Given the description of an element on the screen output the (x, y) to click on. 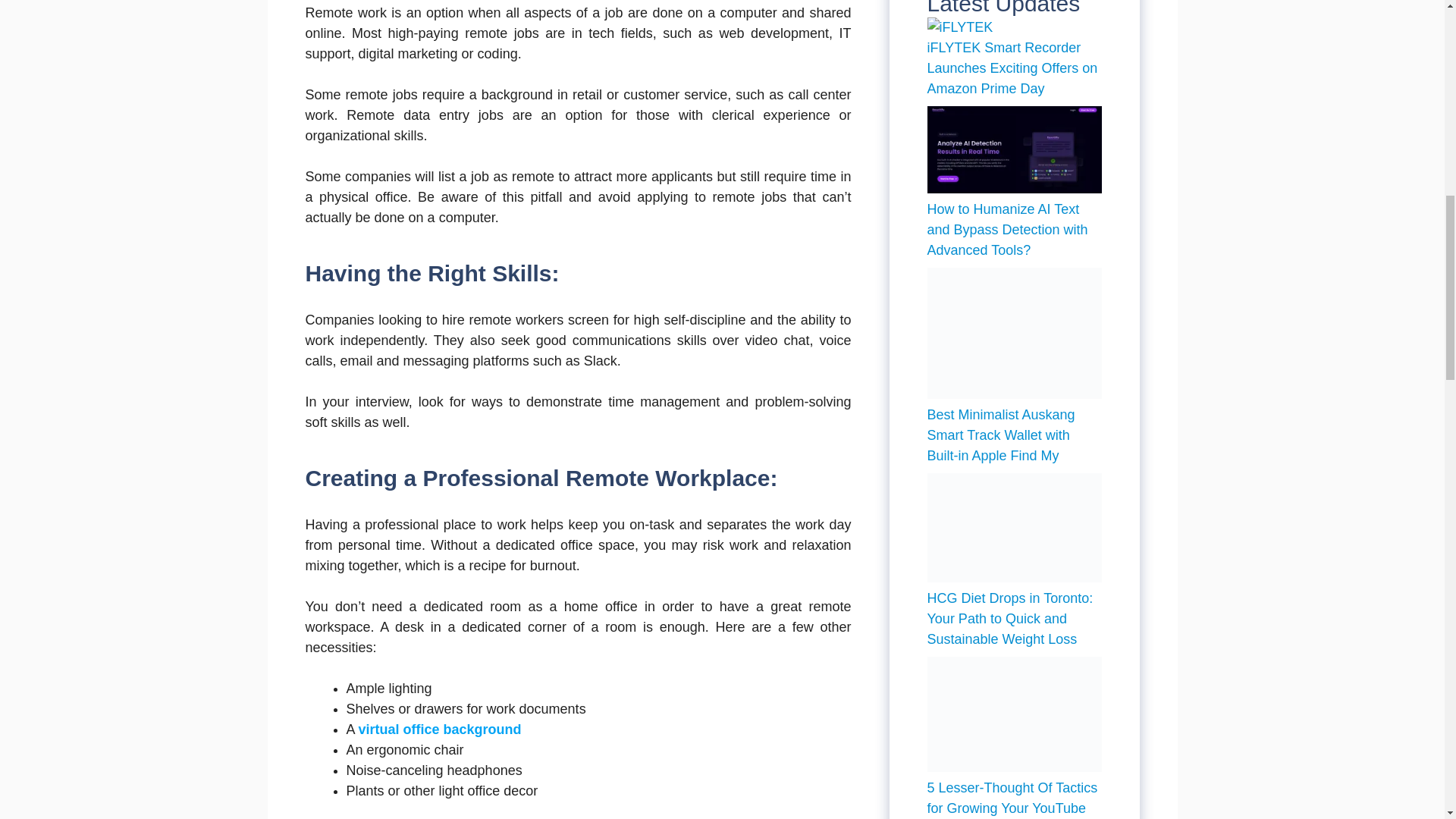
Scroll back to top (1406, 720)
5 Lesser-Thought Of Tactics for Growing Your YouTube Channel (1011, 799)
virtual office background (439, 729)
